Given the description of an element on the screen output the (x, y) to click on. 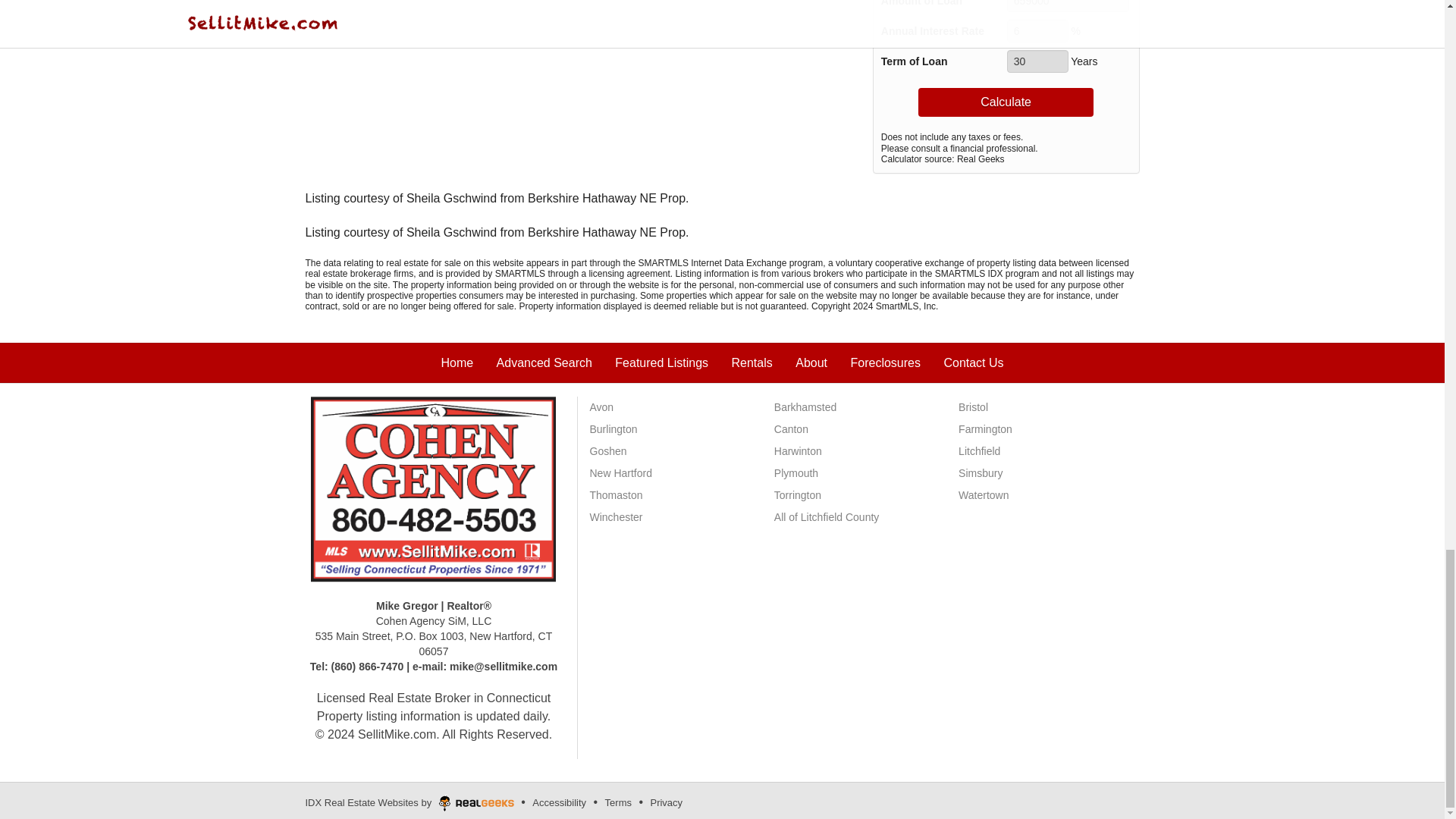
30 (1037, 60)
659000 (1068, 6)
6 (1037, 30)
